Given the description of an element on the screen output the (x, y) to click on. 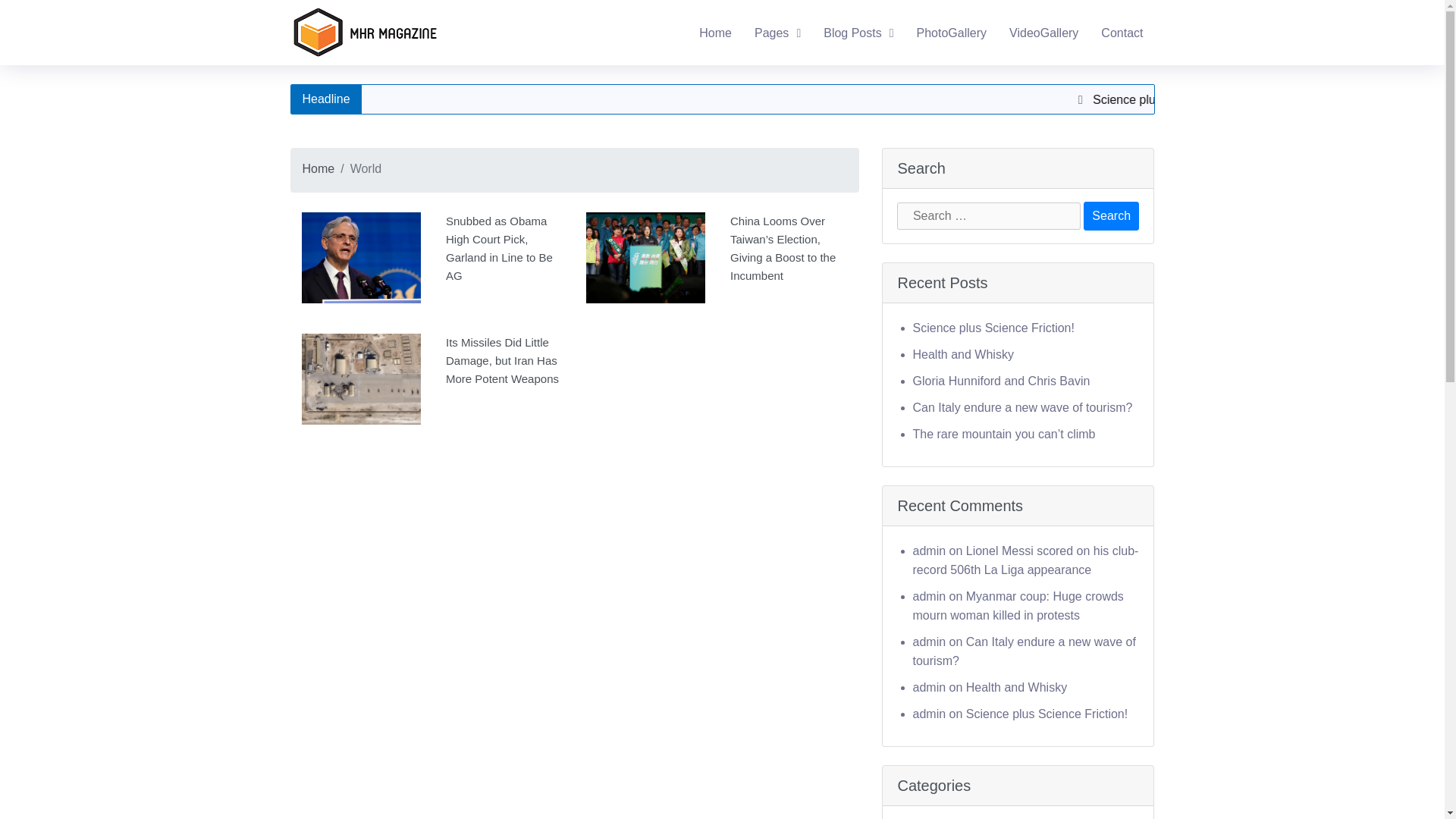
VideoGallery (1043, 32)
MhrMagazine (325, 65)
PhotoGallery (951, 32)
Home (317, 168)
PhotoGallery (951, 32)
Health and Whisky (962, 354)
admin (929, 686)
Home (714, 32)
Can Italy endure a new wave of tourism? (1023, 651)
Pages (777, 32)
Search (1110, 215)
Blog Posts (858, 32)
Snubbed as Obama High Court Pick, Garland in Line to Be AG (431, 265)
Gloria Hunniford and Chris Bavin (1001, 380)
Pages (777, 32)
